Given the description of an element on the screen output the (x, y) to click on. 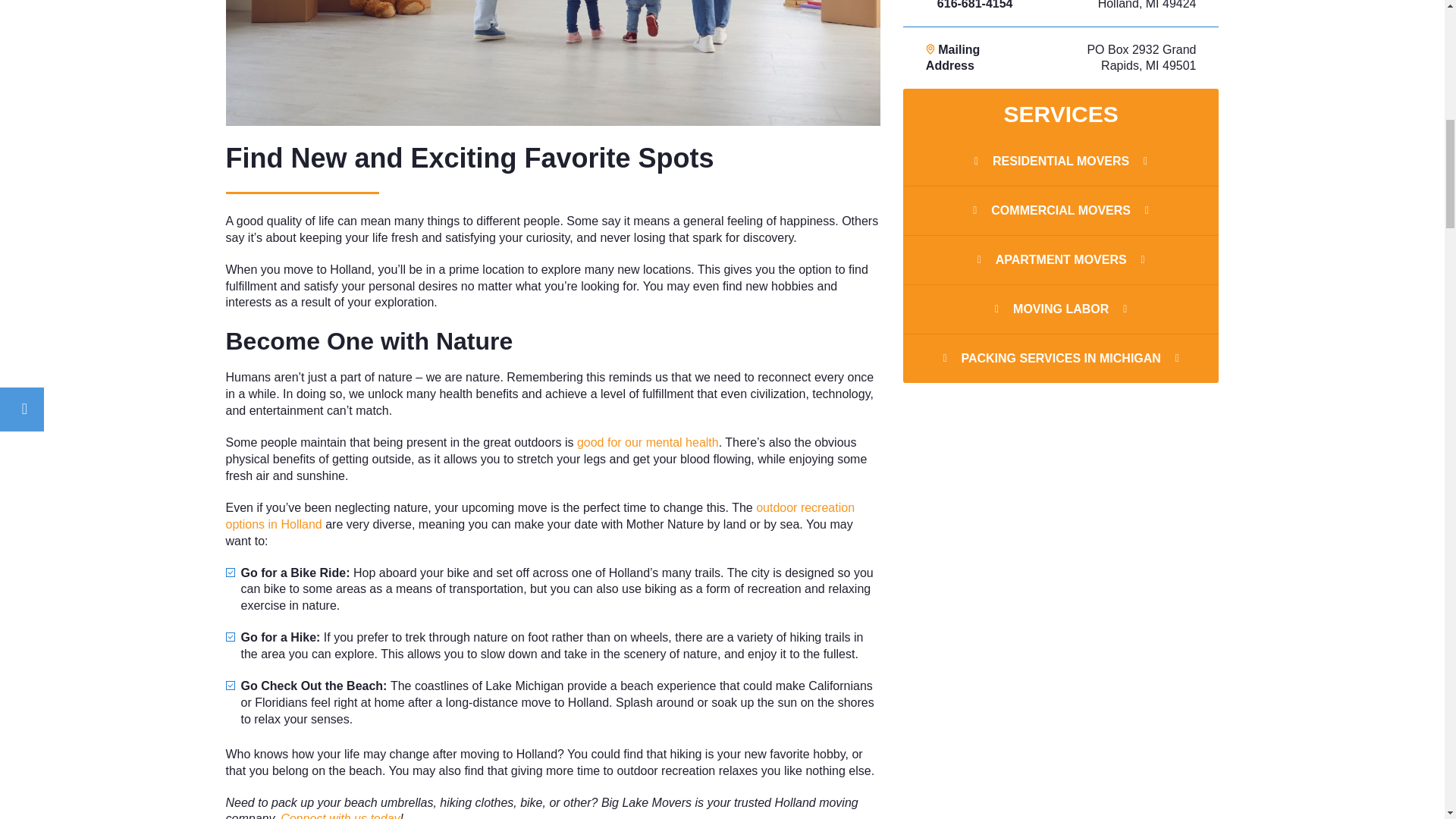
outdoor recreation options in Holland (540, 515)
good for our mental health (647, 441)
Connect with us today (339, 815)
